Given the description of an element on the screen output the (x, y) to click on. 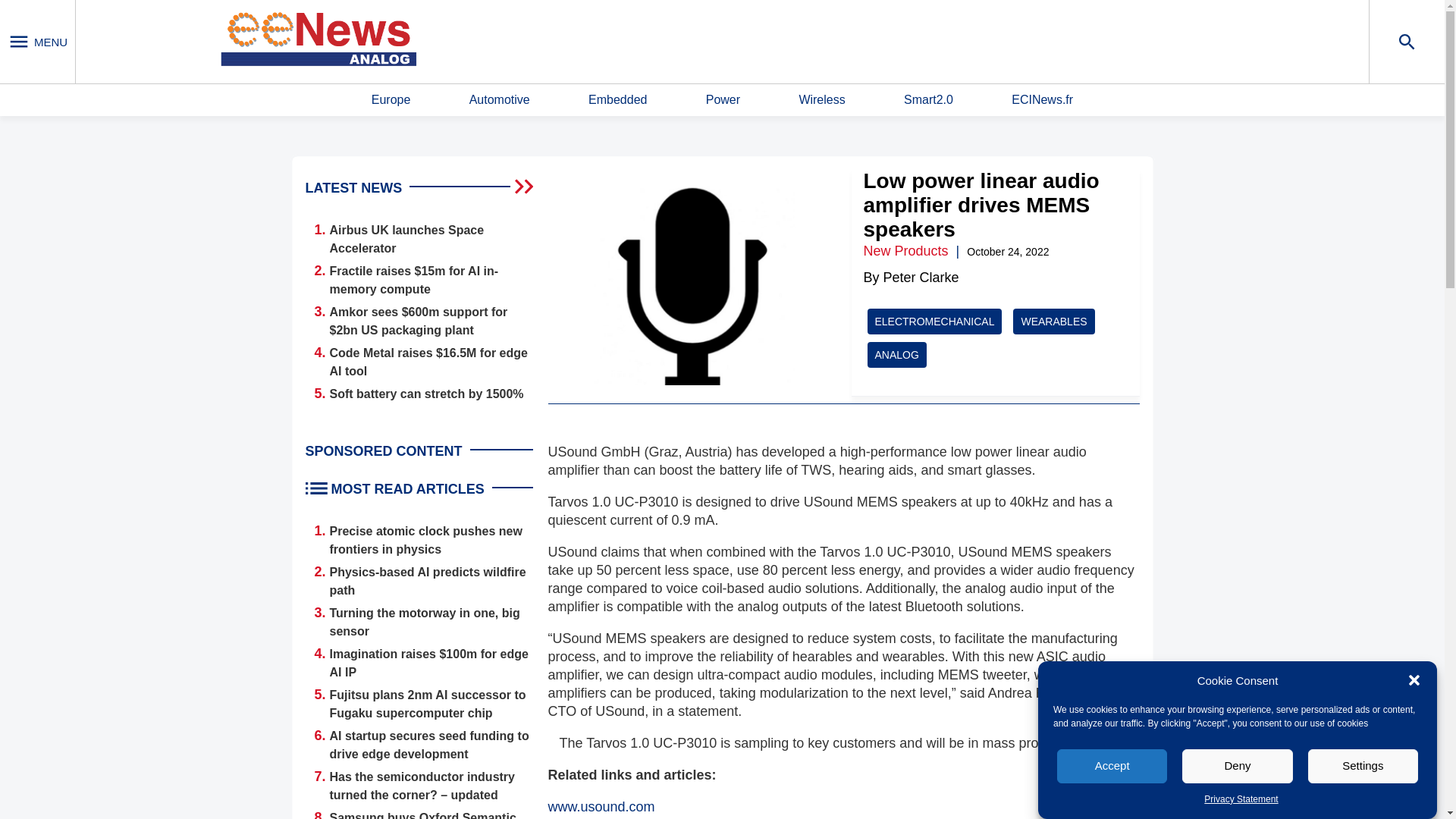
Europe (390, 99)
Power (722, 99)
Wireless (820, 99)
Automotive (498, 99)
Smart2.0 (928, 99)
Embedded (617, 99)
ECINews.fr (1042, 99)
